Given the description of an element on the screen output the (x, y) to click on. 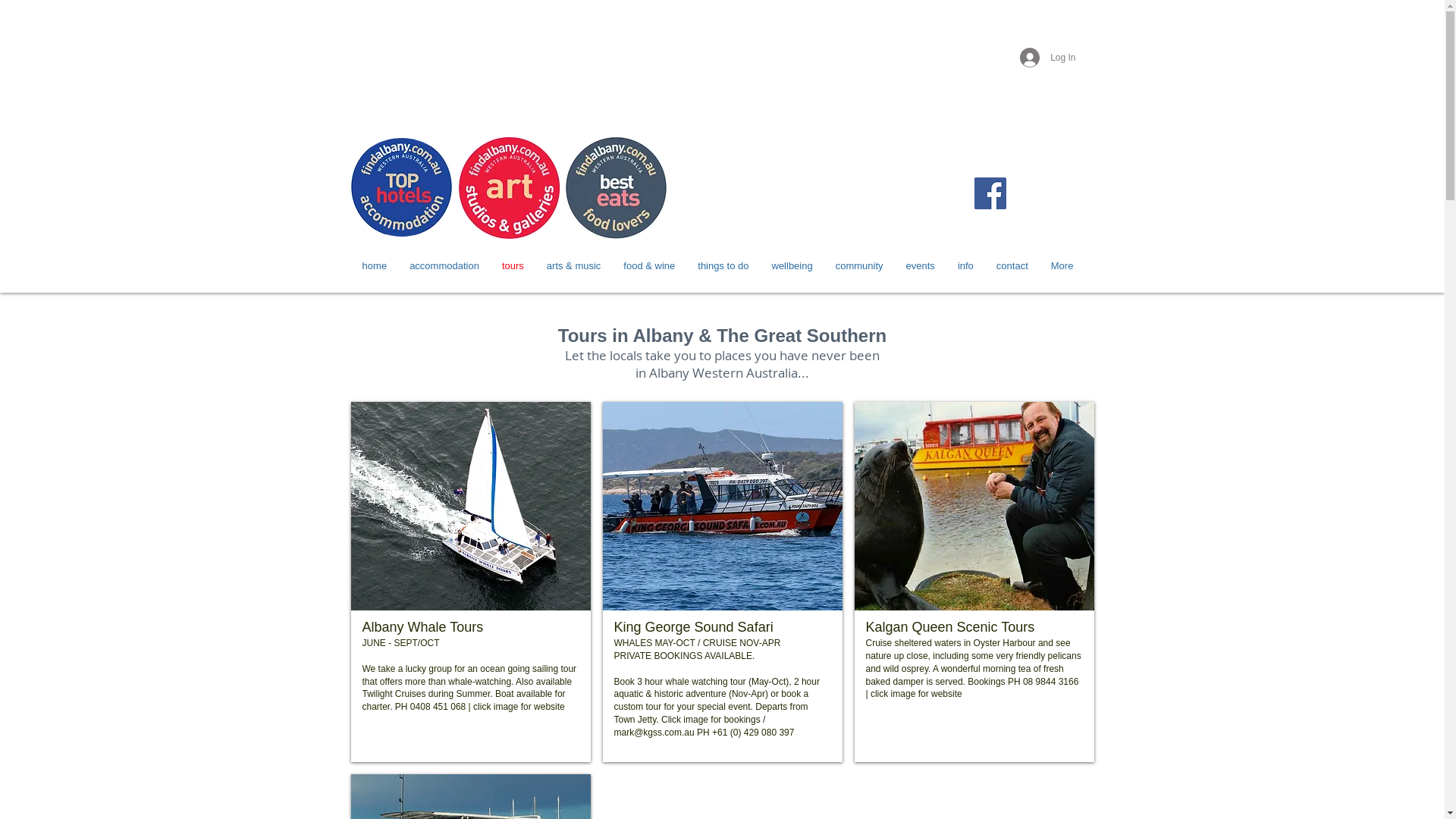
info Element type: text (965, 267)
Log In Element type: text (1047, 57)
home Element type: text (374, 267)
things to do Element type: text (722, 267)
tours Element type: text (512, 267)
food & wine Element type: text (648, 267)
arts & music Element type: text (573, 267)
events Element type: text (920, 267)
contact Element type: text (1012, 267)
wellbeing Element type: text (791, 267)
